Given the description of an element on the screen output the (x, y) to click on. 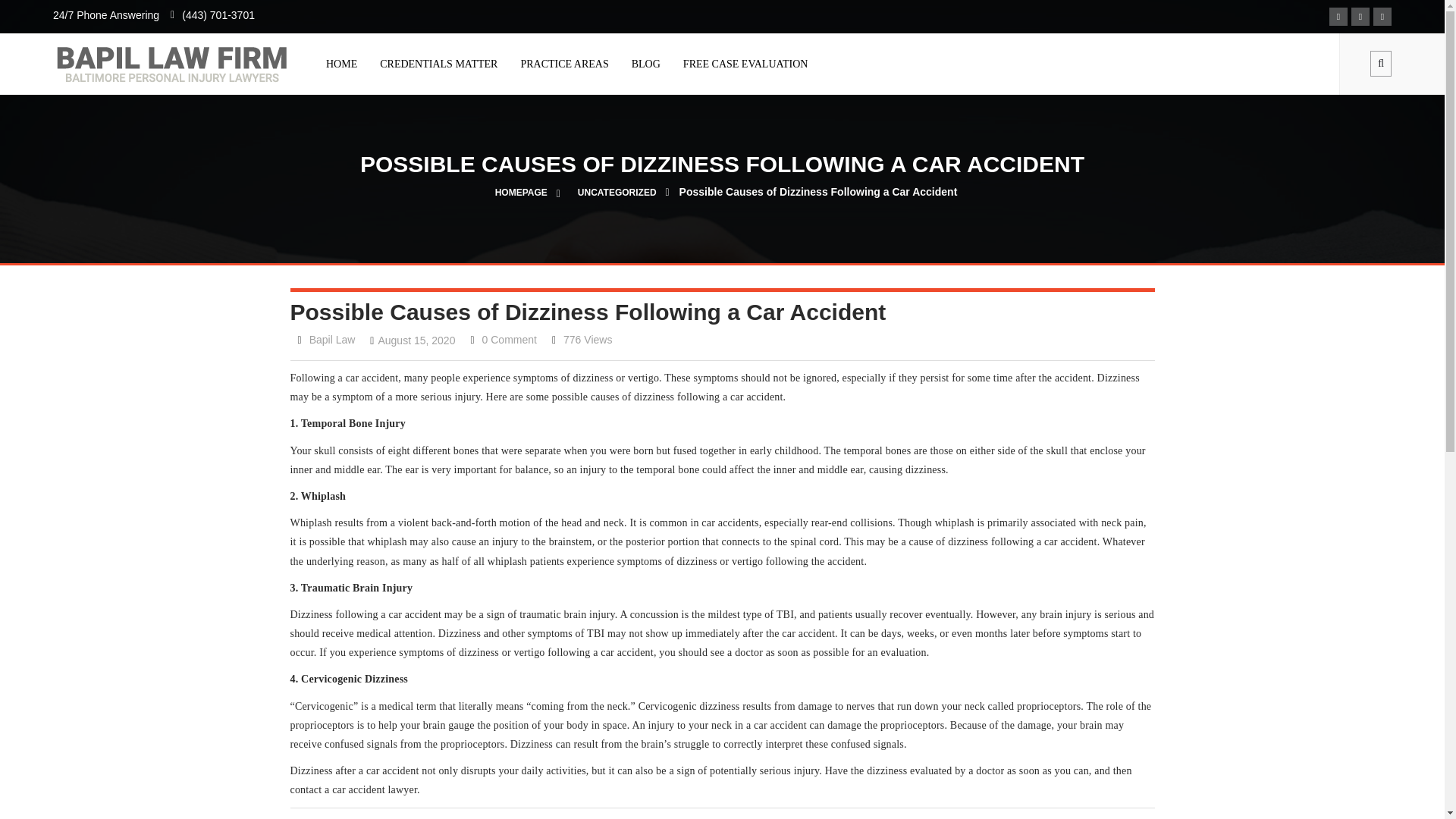
Homepage (520, 192)
Posts by Bapil Law (331, 339)
Bapil Law (331, 339)
HOMEPAGE (520, 192)
UNCATEGORIZED (616, 192)
FREE CASE EVALUATION (745, 64)
776 Views (587, 339)
August 15, 2020 (415, 340)
CREDENTIALS MATTER (438, 64)
Possible Causes of Dizziness Following a Car Accident (818, 191)
0 Comment (509, 339)
Uncategorized (616, 192)
PRACTICE AREAS (564, 64)
